Given the description of an element on the screen output the (x, y) to click on. 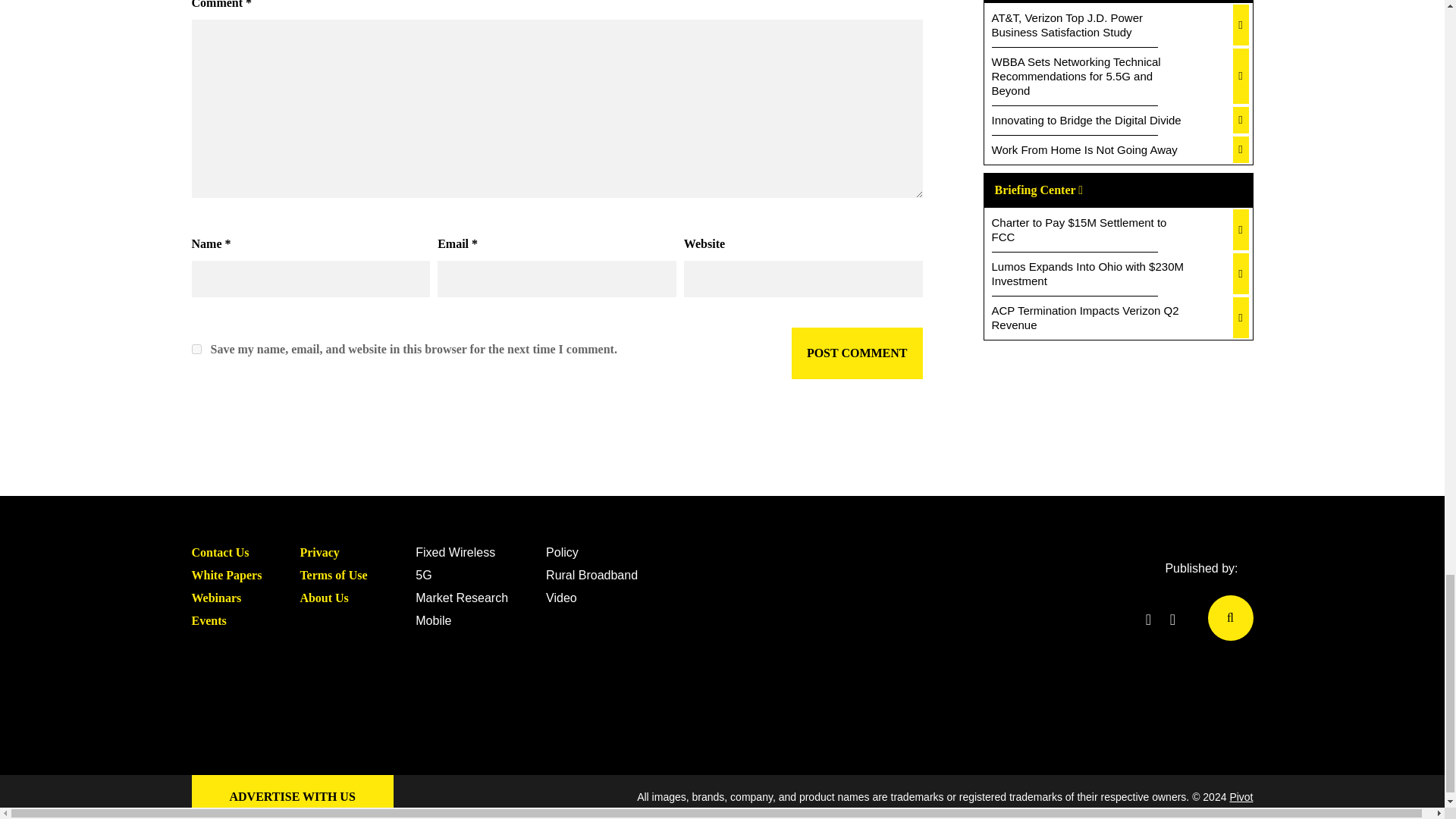
yes (195, 348)
Post Comment (857, 353)
